Given the description of an element on the screen output the (x, y) to click on. 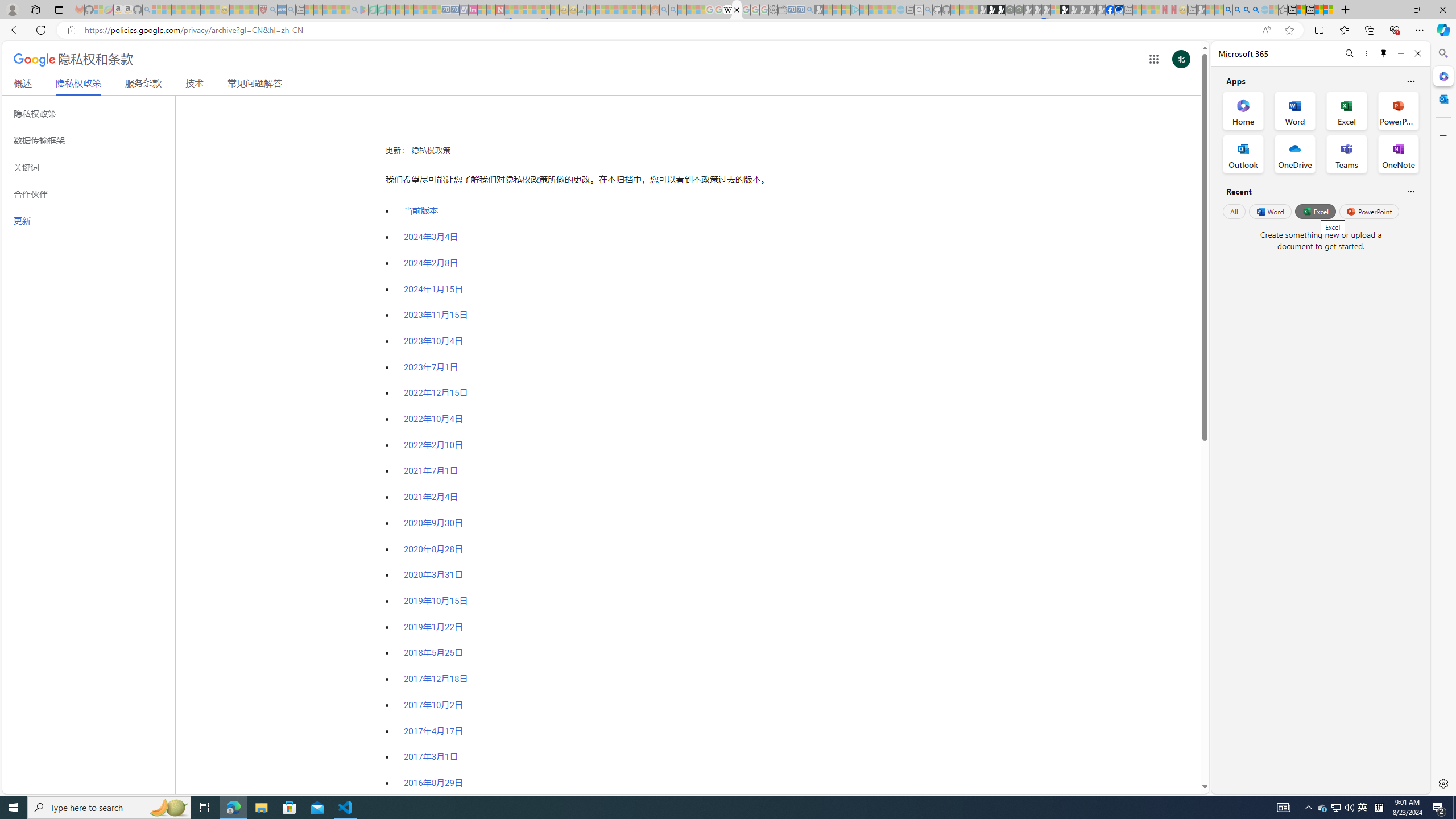
Play Zoo Boom in your browser | Games from Microsoft Start (991, 9)
New tab - Sleeping (1191, 9)
OneNote Office App (1398, 154)
PowerPoint (1369, 210)
Recipes - MSN - Sleeping (234, 9)
Expert Portfolios - Sleeping (617, 9)
